Given the description of an element on the screen output the (x, y) to click on. 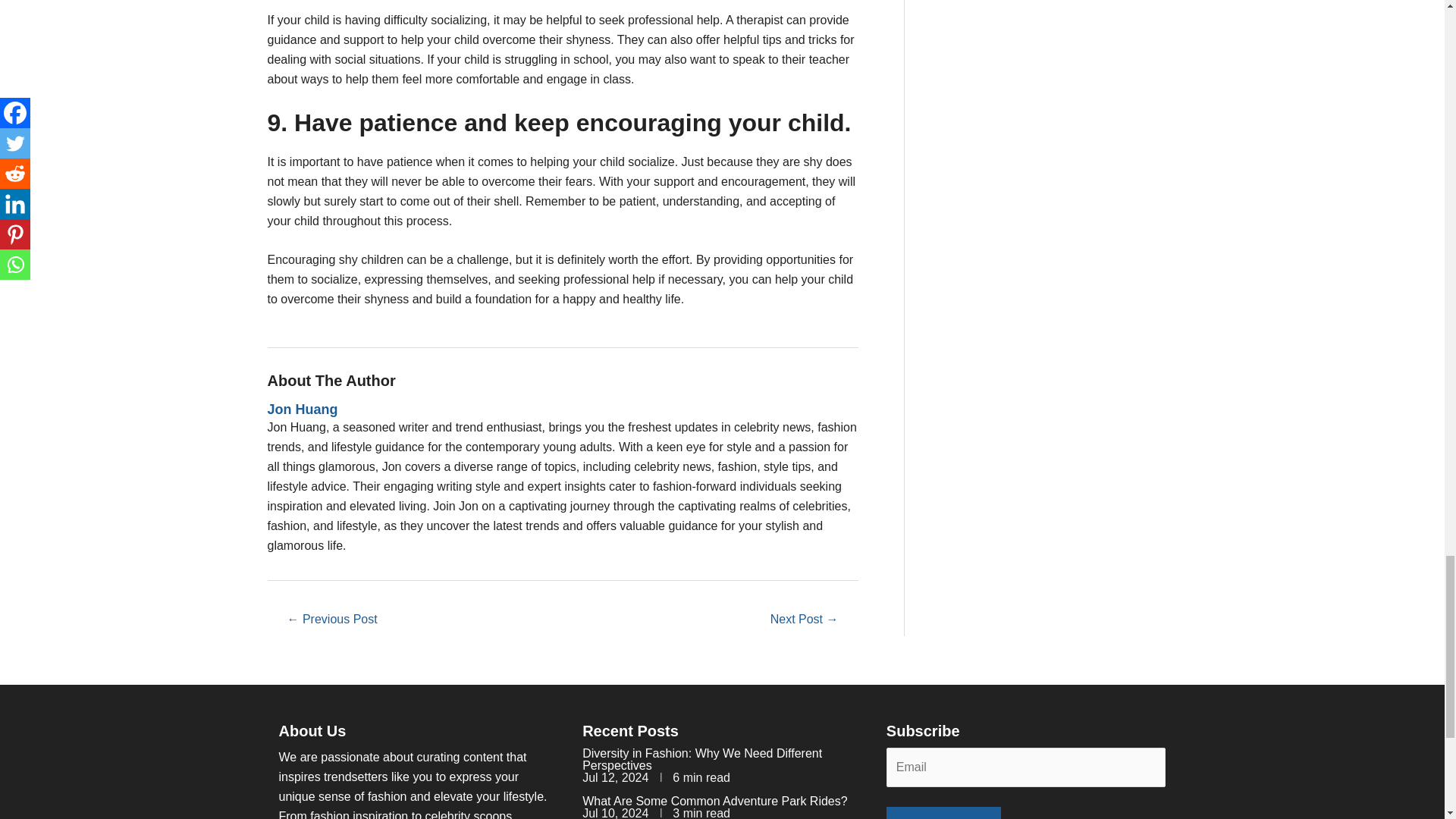
The Importance of Staying Active in Today's World (330, 620)
Subscribe (943, 812)
Jon Huang (561, 409)
Building Up Your Confidence After A Bad Breakup (804, 620)
